Given the description of an element on the screen output the (x, y) to click on. 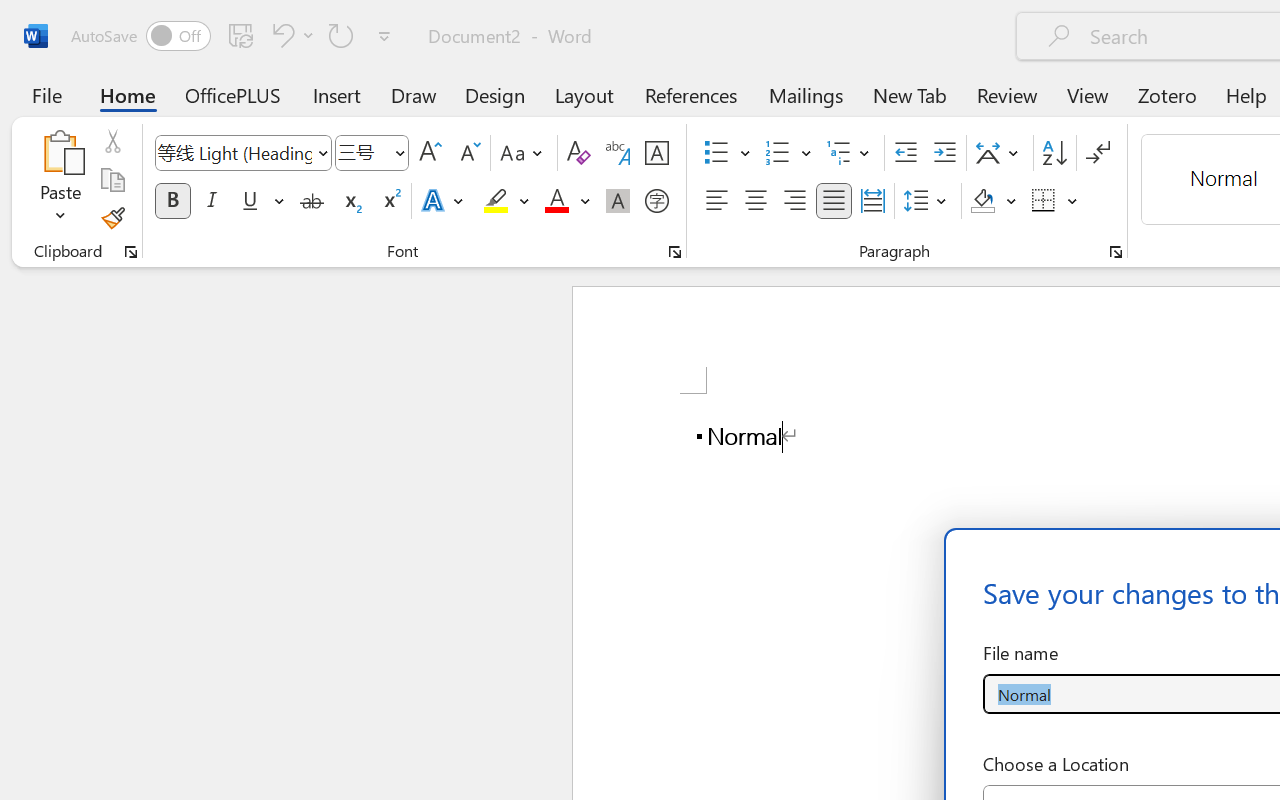
Paragraph... (1115, 252)
Mailings (806, 94)
Draw (413, 94)
Copy (112, 179)
Clear Formatting (578, 153)
Paste (60, 179)
Office Clipboard... (131, 252)
Phonetic Guide... (618, 153)
Borders (1044, 201)
Strikethrough (312, 201)
Save (241, 35)
Underline (261, 201)
Italic (212, 201)
Cut (112, 141)
Text Highlight Color Yellow (495, 201)
